Given the description of an element on the screen output the (x, y) to click on. 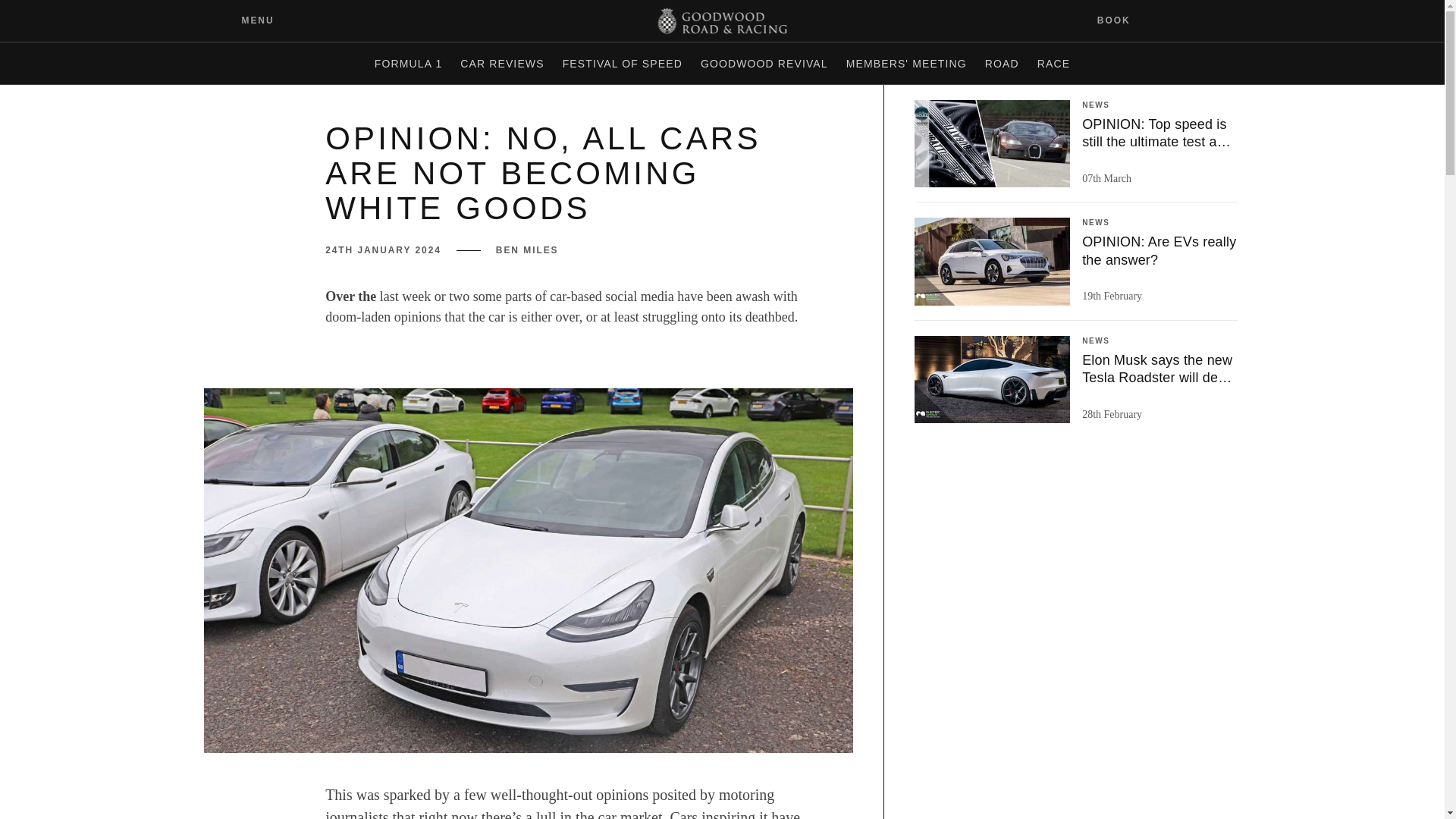
ROAD (1001, 63)
CAR REVIEWS (502, 63)
GOODWOOD REVIVAL (764, 63)
RACE (1053, 63)
FORMULA 1 (408, 63)
FESTIVAL OF SPEED (622, 63)
MEMBERS' MEETING (906, 63)
MENU (246, 20)
BOOK (1122, 20)
